Given the description of an element on the screen output the (x, y) to click on. 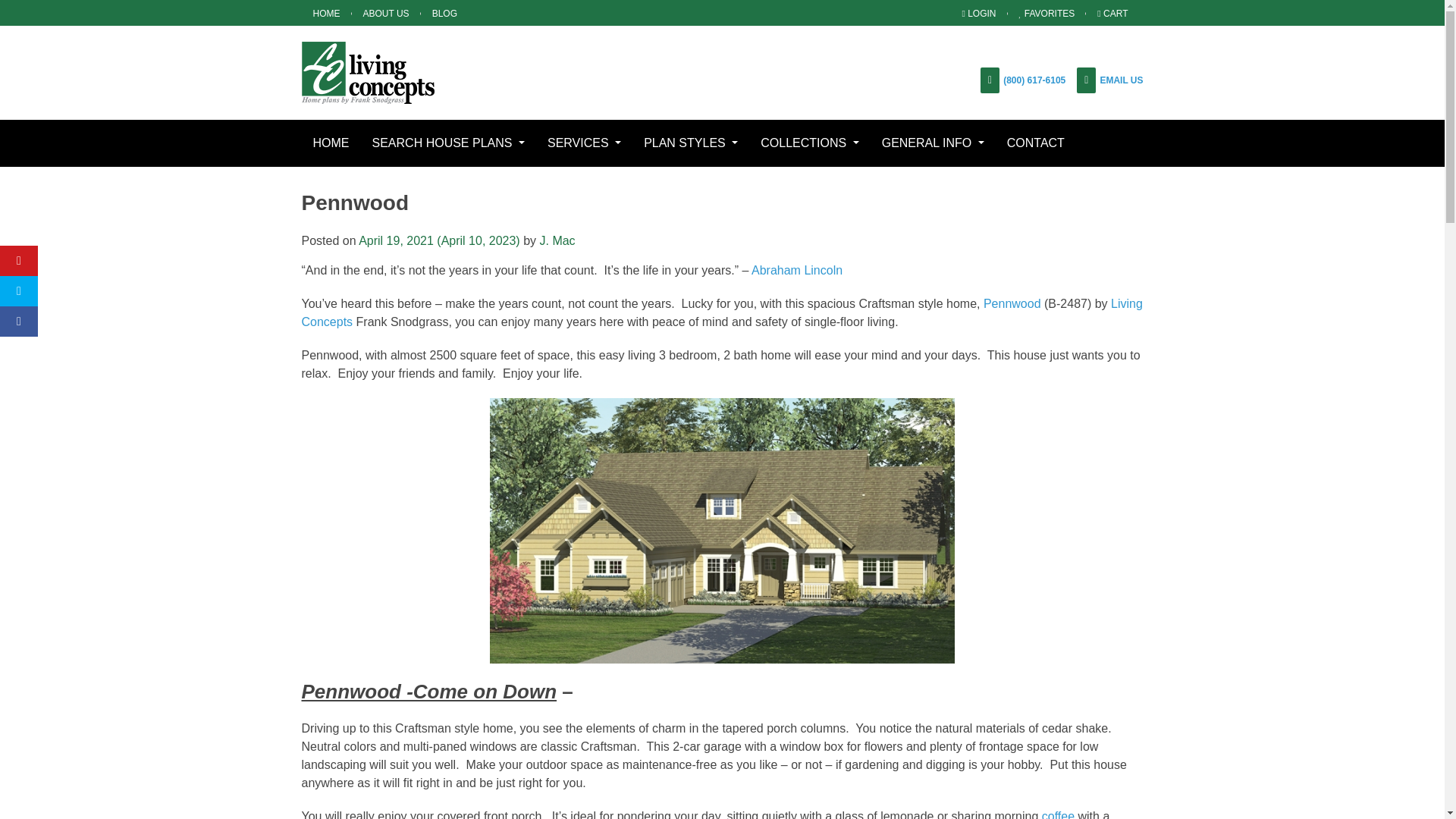
LOGIN (978, 15)
Search House Plans (448, 143)
Plan Styles (690, 143)
FAVORITES (1046, 15)
SERVICES (583, 143)
BLOG (444, 15)
SEARCH HOUSE PLANS (448, 143)
ABOUT US (386, 15)
CART (1114, 15)
View your shopping cart (1114, 15)
HOME (331, 143)
EMAIL US (1120, 80)
Services (583, 143)
PLAN STYLES (690, 143)
HOME (326, 15)
